Given the description of an element on the screen output the (x, y) to click on. 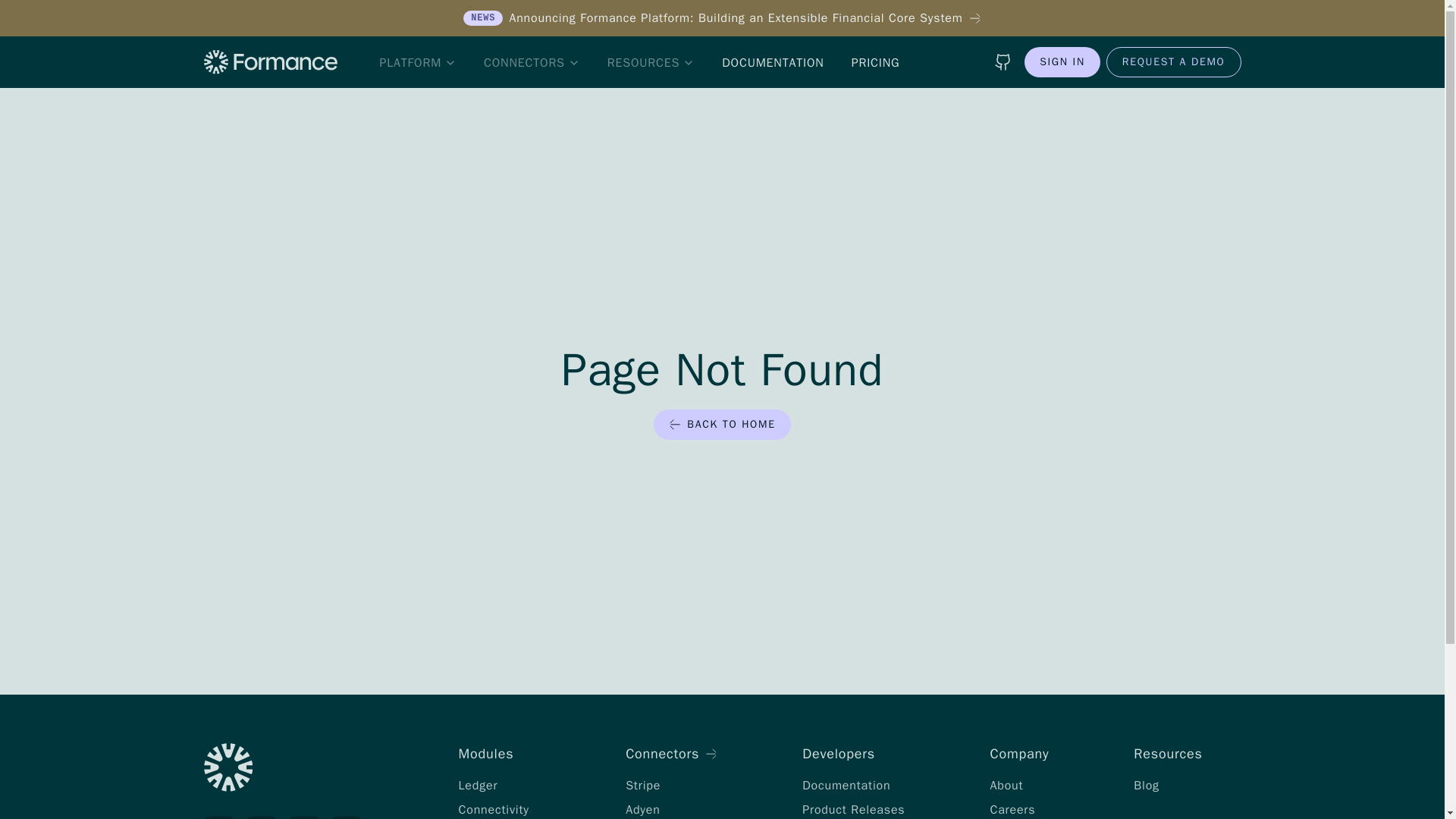
DOCUMENTATION (772, 63)
BACK TO HOME (721, 424)
Product Releases (853, 809)
Stripe (643, 785)
Careers (1012, 809)
PLATFORM (417, 63)
About (1006, 785)
REQUEST A DEMO (1173, 61)
CONNECTORS (531, 63)
RESOURCES (650, 63)
